Given the description of an element on the screen output the (x, y) to click on. 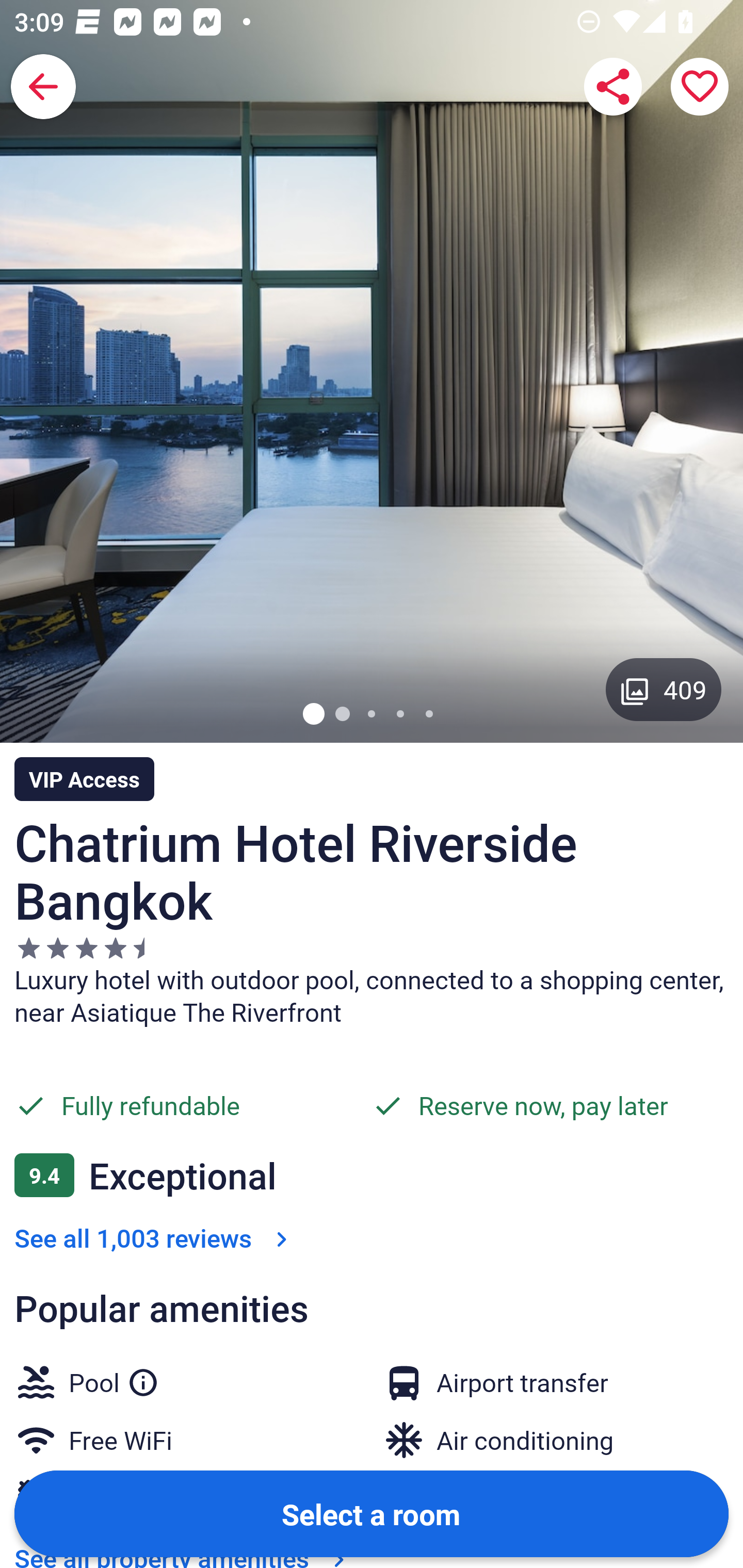
Back (43, 86)
Save property to a trip (699, 86)
Share Chatrium Hotel Riverside Bangkok (612, 87)
Gallery button with 409 images (663, 689)
See all 1,003 reviews See all 1,003 reviews Link (154, 1237)
Pool (113, 1379)
Select a room Button Select a room (371, 1513)
